Given the description of an element on the screen output the (x, y) to click on. 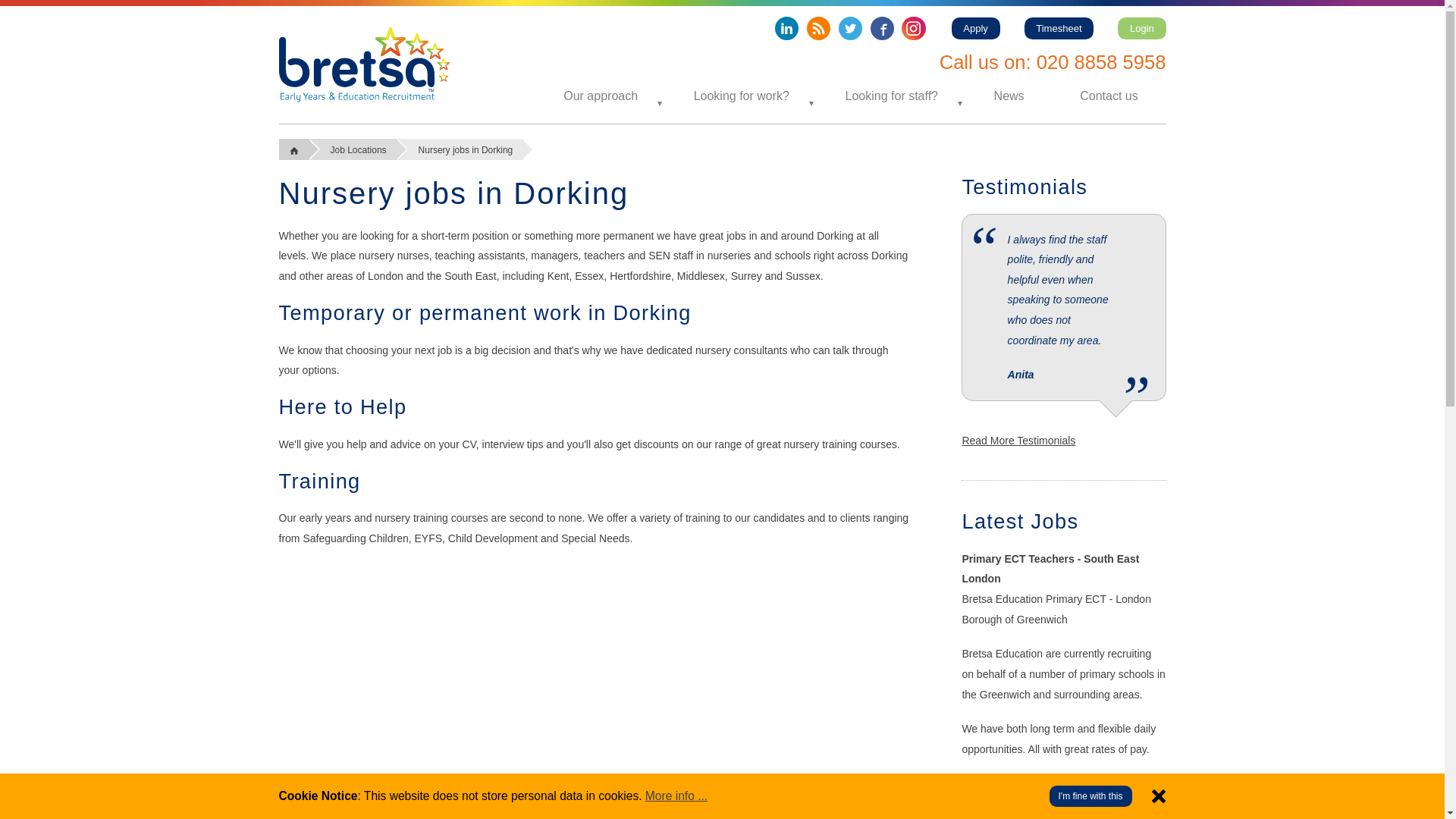
Looking for work? (740, 95)
Our approach (600, 95)
Looking for work? (740, 95)
Read More Testimonials (1017, 440)
Nursery jobs in Dorking (364, 64)
Testimonials (1023, 187)
Nursery jobs in Dorking (460, 148)
News (1009, 95)
Dismiss - I'm fine with this (1158, 795)
Latest Jobs (1019, 521)
Looking for staff? (891, 95)
Contact us (1108, 95)
Contact us (1108, 95)
News (1009, 95)
Timesheet (1058, 28)
